Given the description of an element on the screen output the (x, y) to click on. 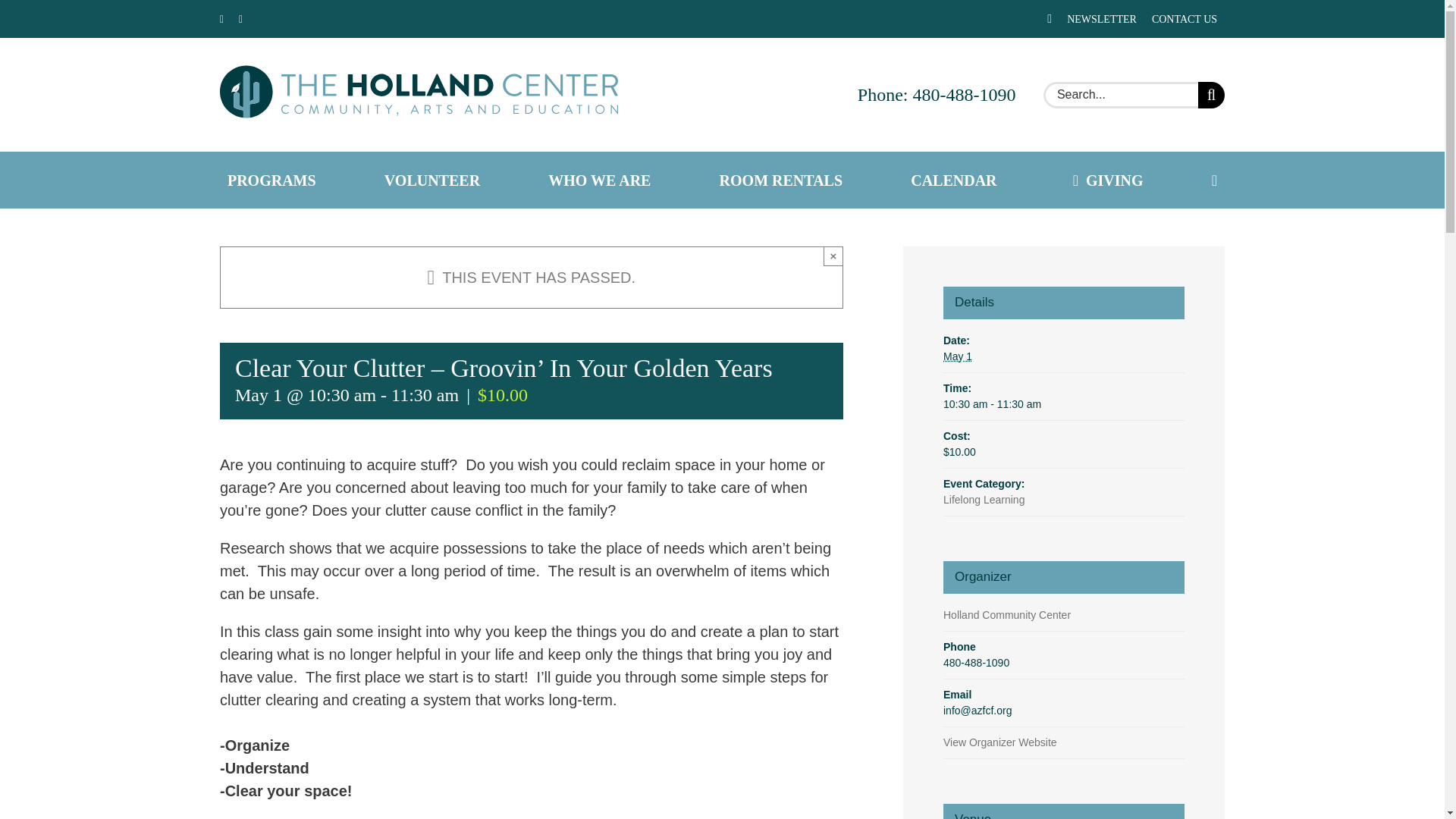
ROOM RENTALS (780, 179)
2024-05-01 (957, 356)
GIVING (1104, 179)
Log In (1224, 175)
PROGRAMS (271, 179)
CONTACT US (1184, 18)
CALENDAR (953, 179)
WHO WE ARE (599, 179)
Holland Community Center (1006, 614)
VOLUNTEER (432, 179)
NEWSLETTER (1101, 18)
2024-05-01 (1064, 404)
